Given the description of an element on the screen output the (x, y) to click on. 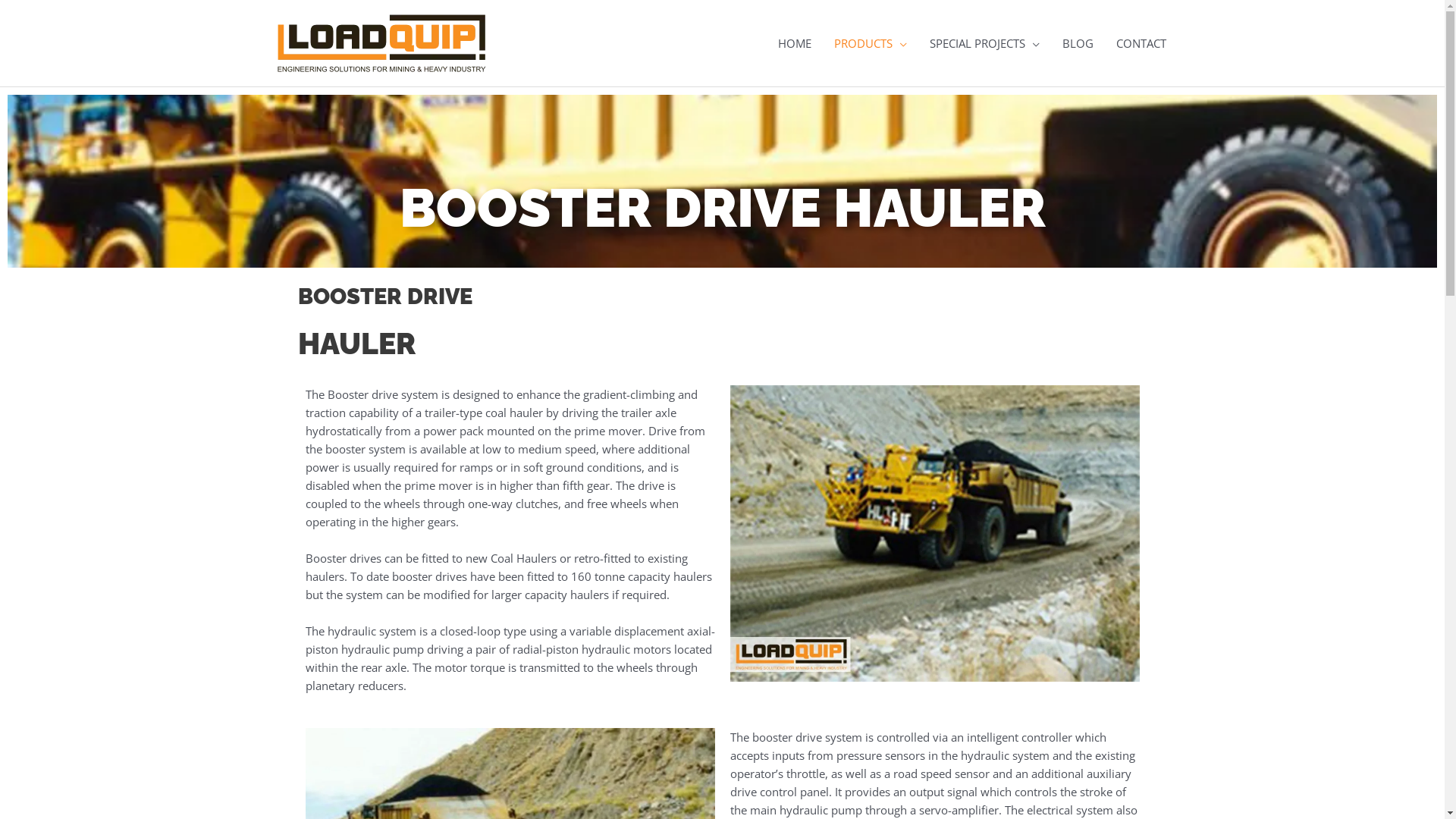
BLOG Element type: text (1077, 42)
HOME Element type: text (793, 42)
CONTACT Element type: text (1140, 42)
SPECIAL PROJECTS Element type: text (983, 42)
PRODUCTS Element type: text (869, 42)
